Given the description of an element on the screen output the (x, y) to click on. 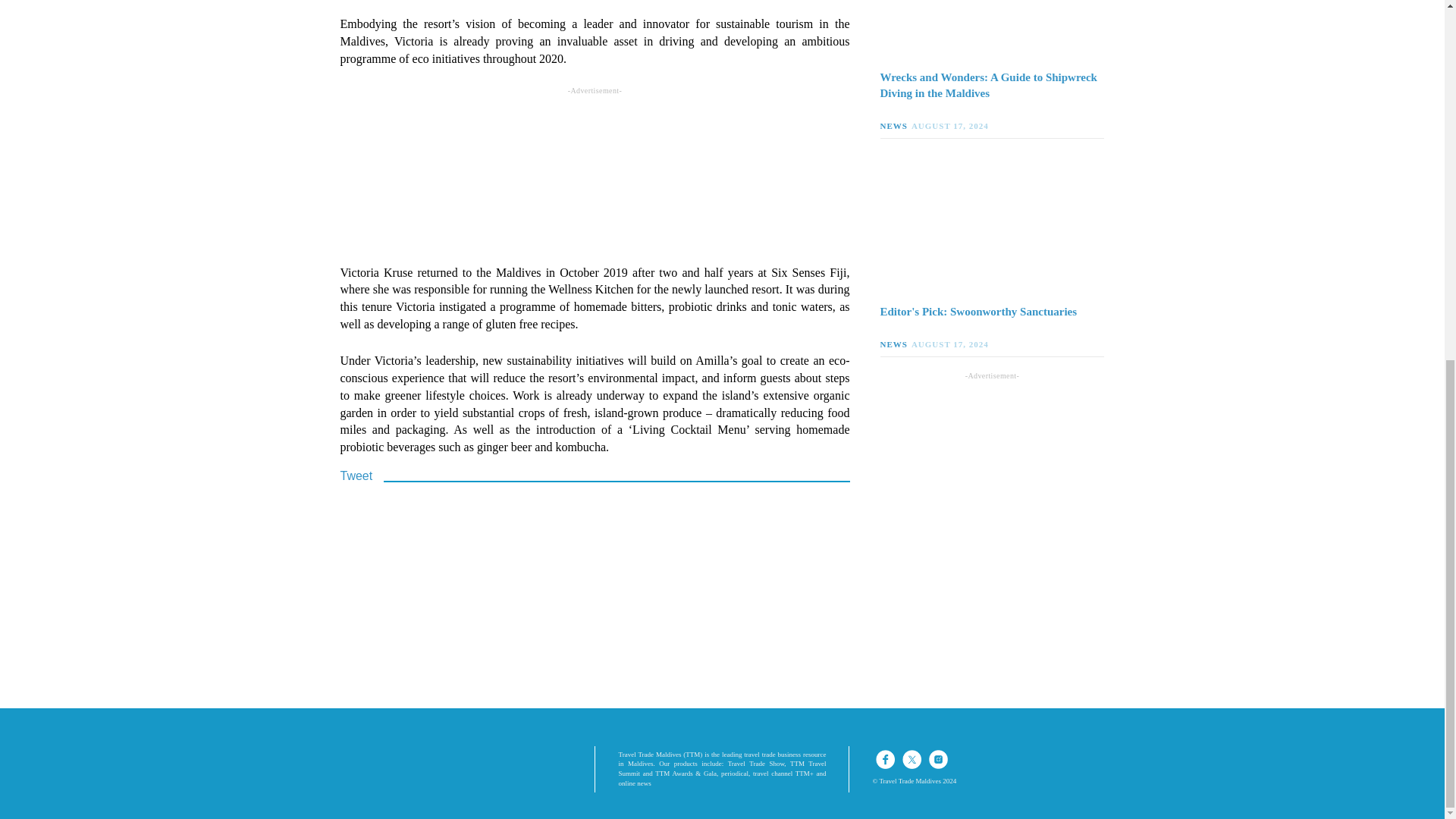
Tweet (355, 475)
NEWS (895, 125)
NEWS (895, 343)
Editor's Pick: Swoonworthy Sanctuaries (991, 311)
